Given the description of an element on the screen output the (x, y) to click on. 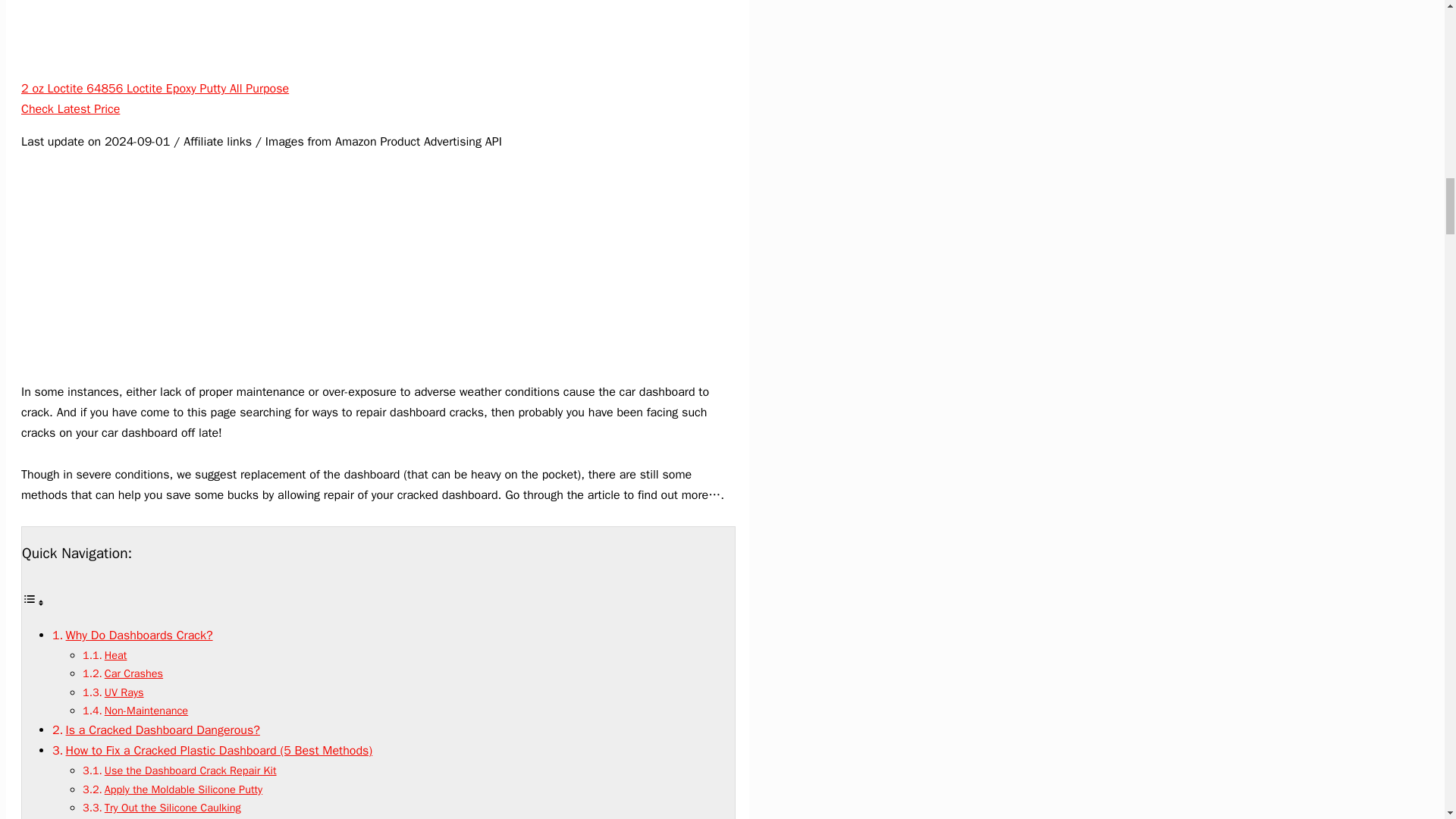
Apply the Moldable Silicone Putty (183, 789)
Why Do Dashboards Crack? (138, 635)
2 oz Loctite 64856 Loctite Epoxy Putty All Purpose (154, 88)
Heat (116, 654)
Non-Maintenance (145, 710)
Is a Cracked Dashboard Dangerous? (162, 729)
Car Crashes (133, 673)
Try Out the Silicone Caulking (172, 807)
Check Latest Price (70, 109)
UV Rays (124, 692)
